Given the description of an element on the screen output the (x, y) to click on. 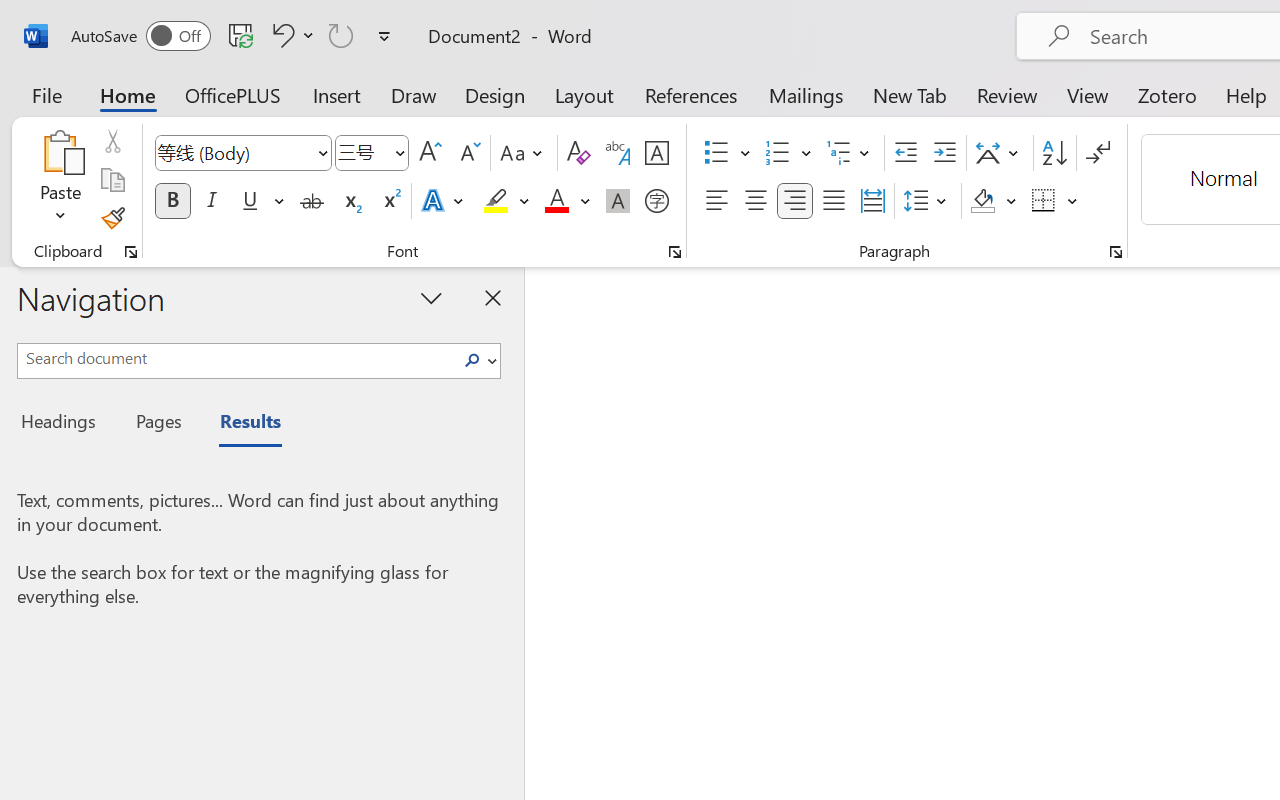
Class: NetUIImage (471, 360)
Shrink Font (468, 153)
Office Clipboard... (131, 252)
AutoSave (140, 35)
Show/Hide Editing Marks (1098, 153)
Font Color Red (556, 201)
Asian Layout (1000, 153)
Text Highlight Color (506, 201)
Cut (112, 141)
Design (495, 94)
Italic (212, 201)
Zotero (1166, 94)
Undo Paragraph Alignment (290, 35)
Layout (584, 94)
Sort... (1054, 153)
